Given the description of an element on the screen output the (x, y) to click on. 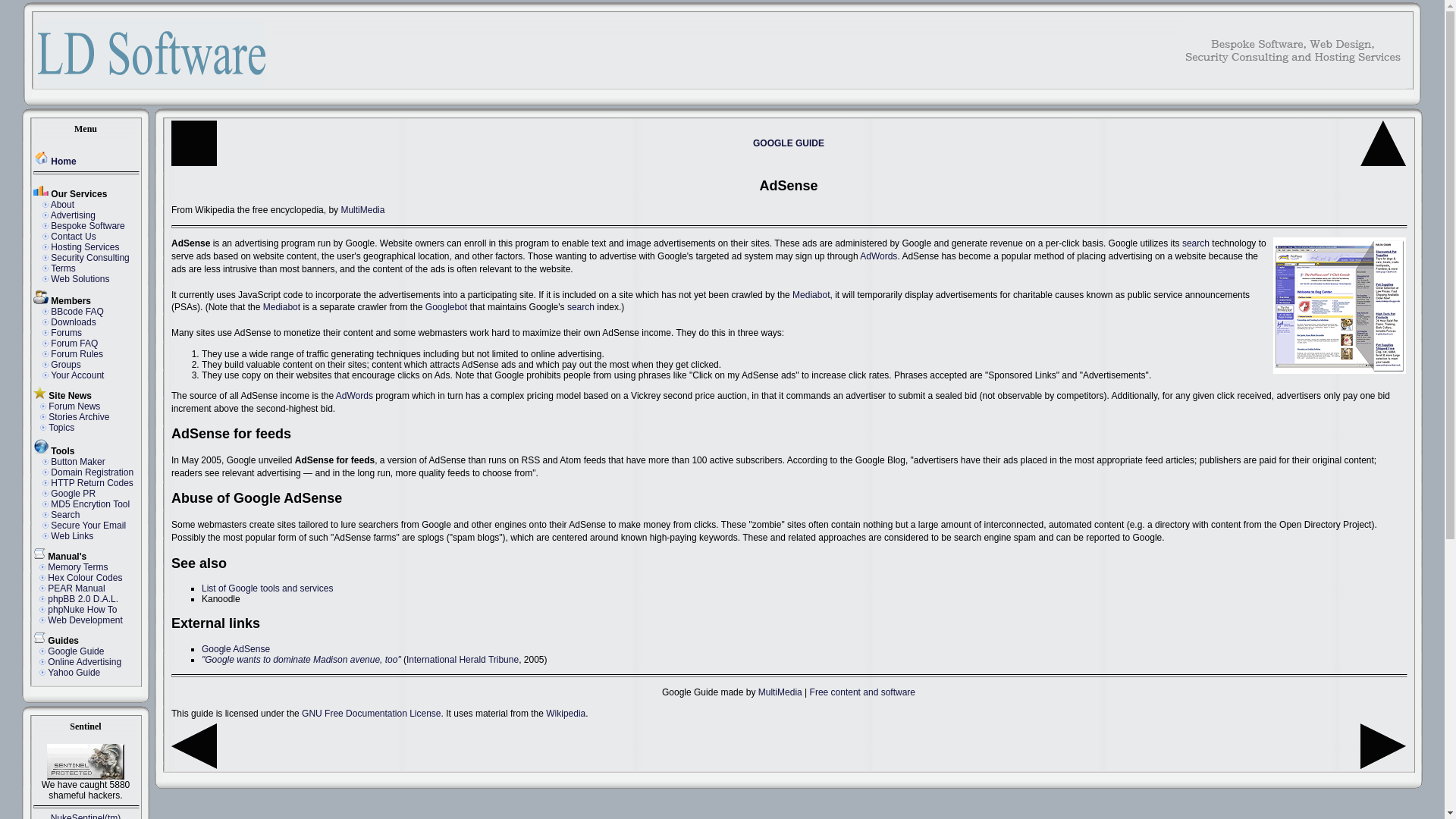
Hosting Services (84, 246)
Button Maker (77, 461)
International Herald Tribune (462, 659)
HTTP Return Codes (91, 482)
Home (193, 163)
Web Links (71, 535)
Groups (65, 364)
Bespoke Software (86, 225)
UP (1382, 163)
Terms (62, 267)
Stories Archive (78, 416)
Yahoo Guide (74, 672)
Topics (61, 427)
phpNuke How To (82, 609)
Your Account (76, 375)
